Given the description of an element on the screen output the (x, y) to click on. 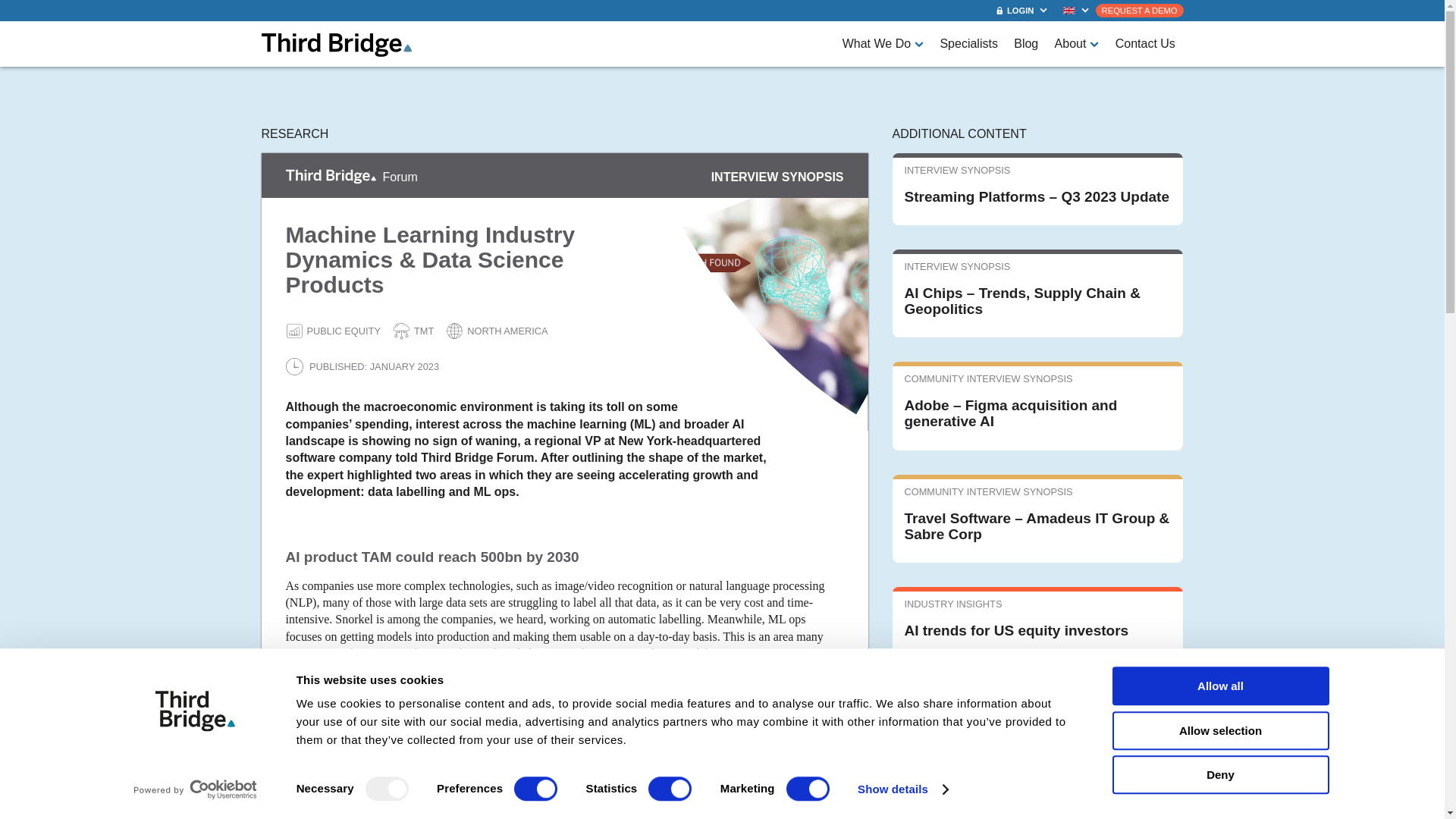
Show details (902, 789)
